Given the description of an element on the screen output the (x, y) to click on. 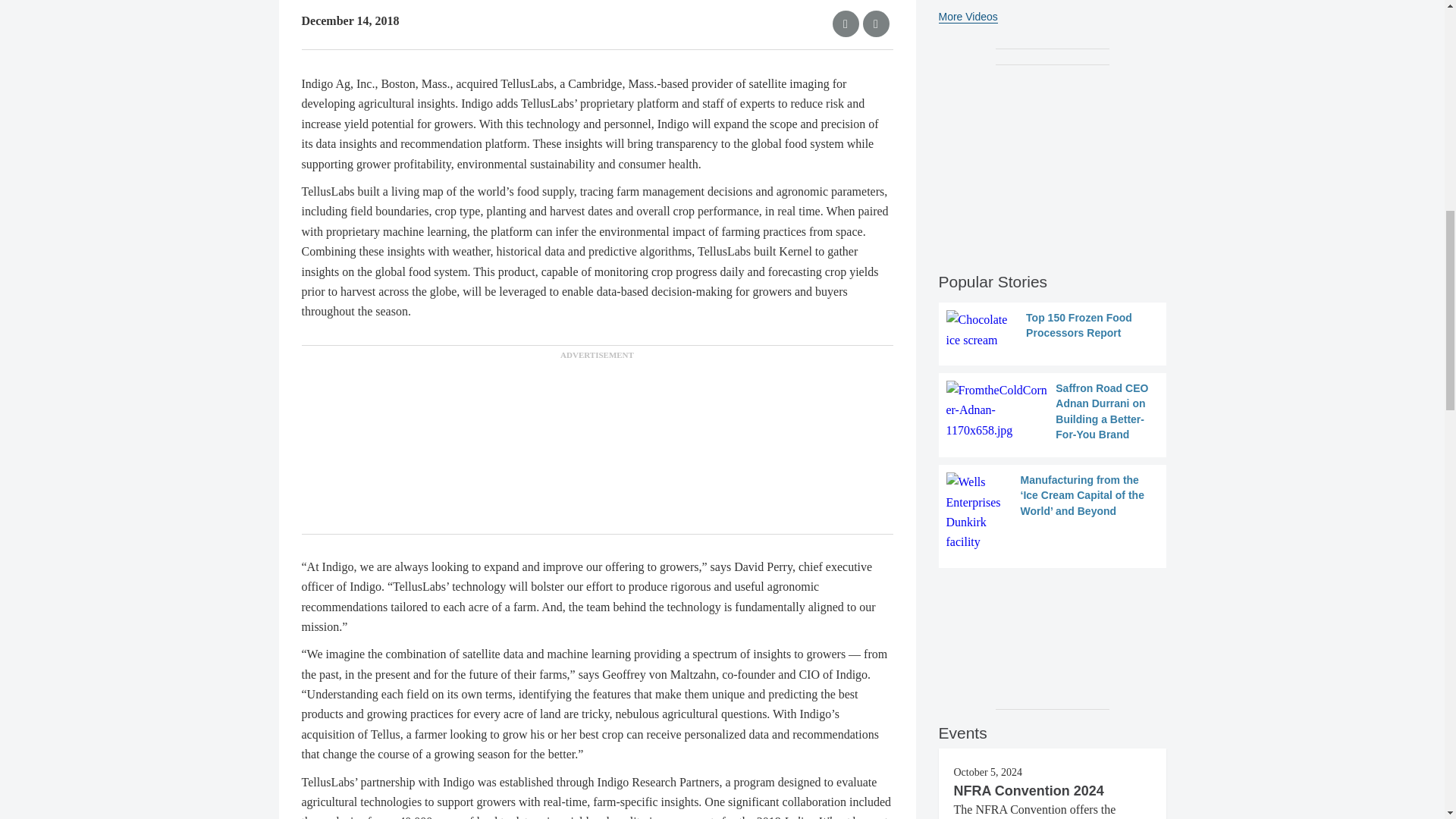
Interaction questions (1052, 632)
NFRA Convention 2024 (1028, 790)
Top 150 Frozen Food Processors Report (1052, 330)
